Given the description of an element on the screen output the (x, y) to click on. 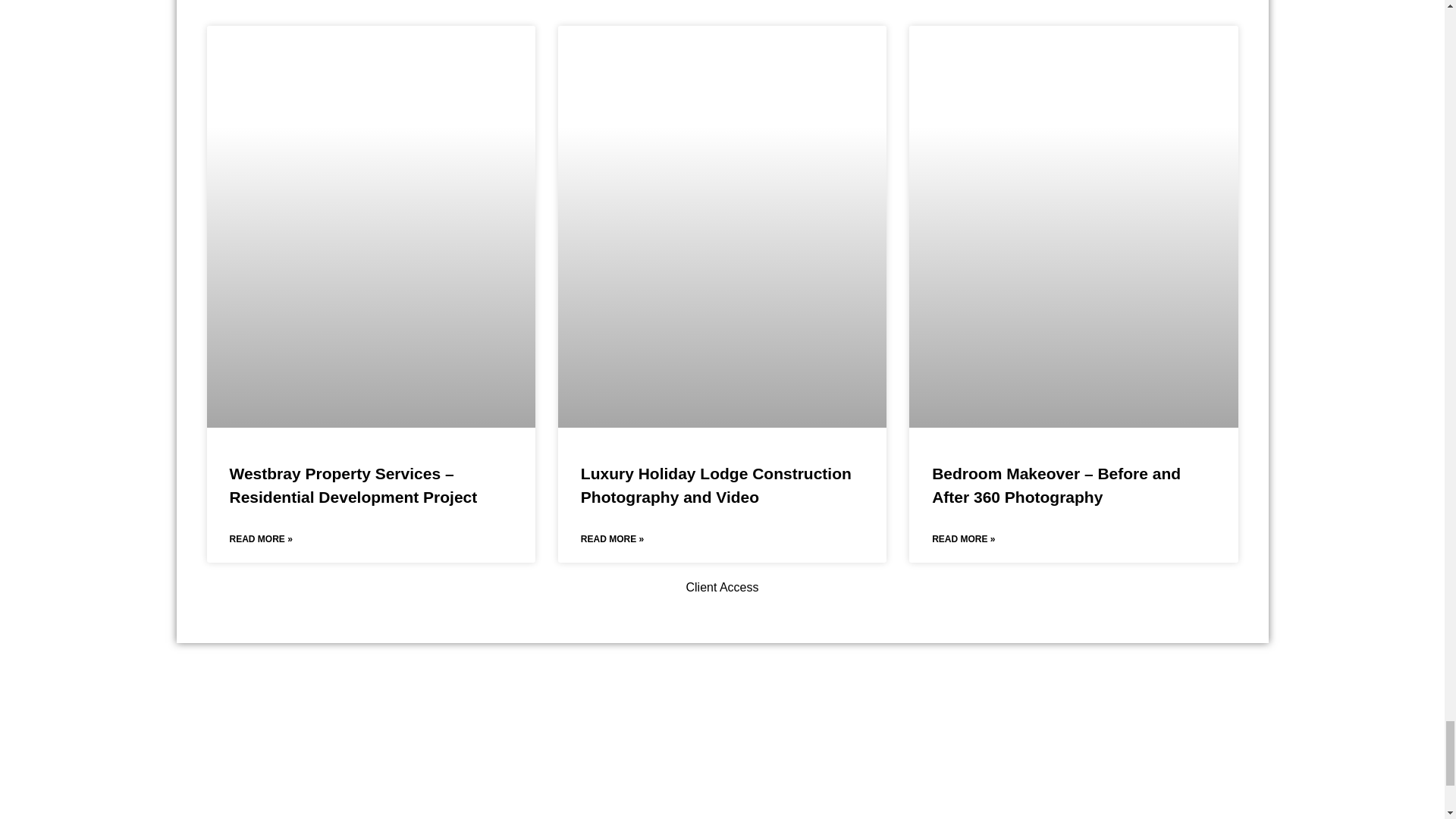
Graham Baker Photography (603, 427)
Graham Baker Photography (251, 427)
Westbray Property Services (370, 117)
Luxury Holiday Lodge Construction Photography Project (721, 117)
